Given the description of an element on the screen output the (x, y) to click on. 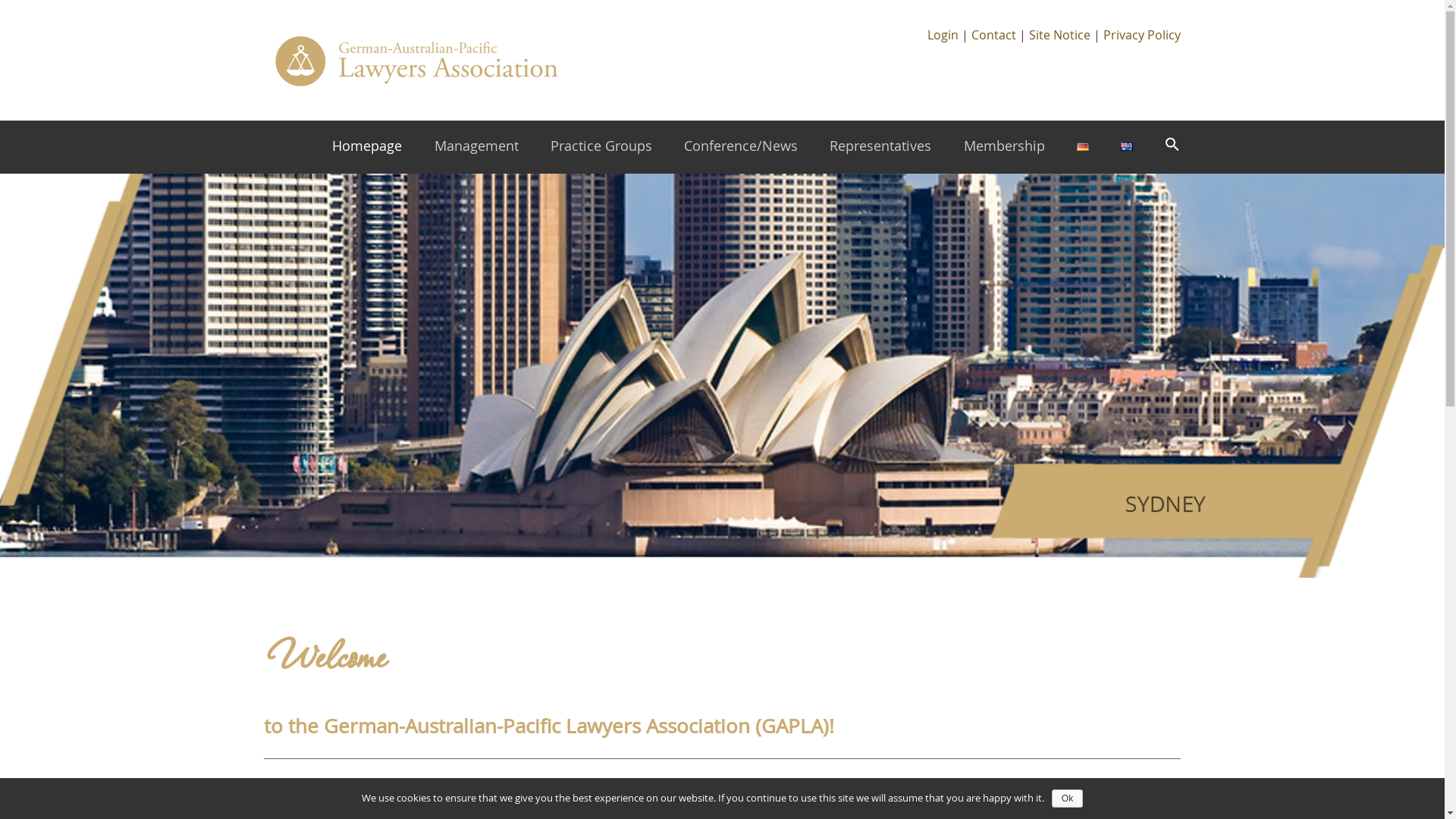
Australian/English Element type: hover (1126, 146)
Representatives Element type: text (880, 146)
Privacy Policy Element type: text (1141, 34)
Contact Element type: text (993, 34)
Site Notice Element type: text (1059, 34)
Homepage Element type: text (366, 146)
Practice Groups Element type: text (601, 146)
Login Element type: text (942, 34)
Conference/News Element type: text (740, 146)
Deutsch Element type: hover (1082, 146)
Management Element type: text (476, 146)
Ok Element type: text (1066, 798)
Membership Element type: text (1003, 146)
